Given the description of an element on the screen output the (x, y) to click on. 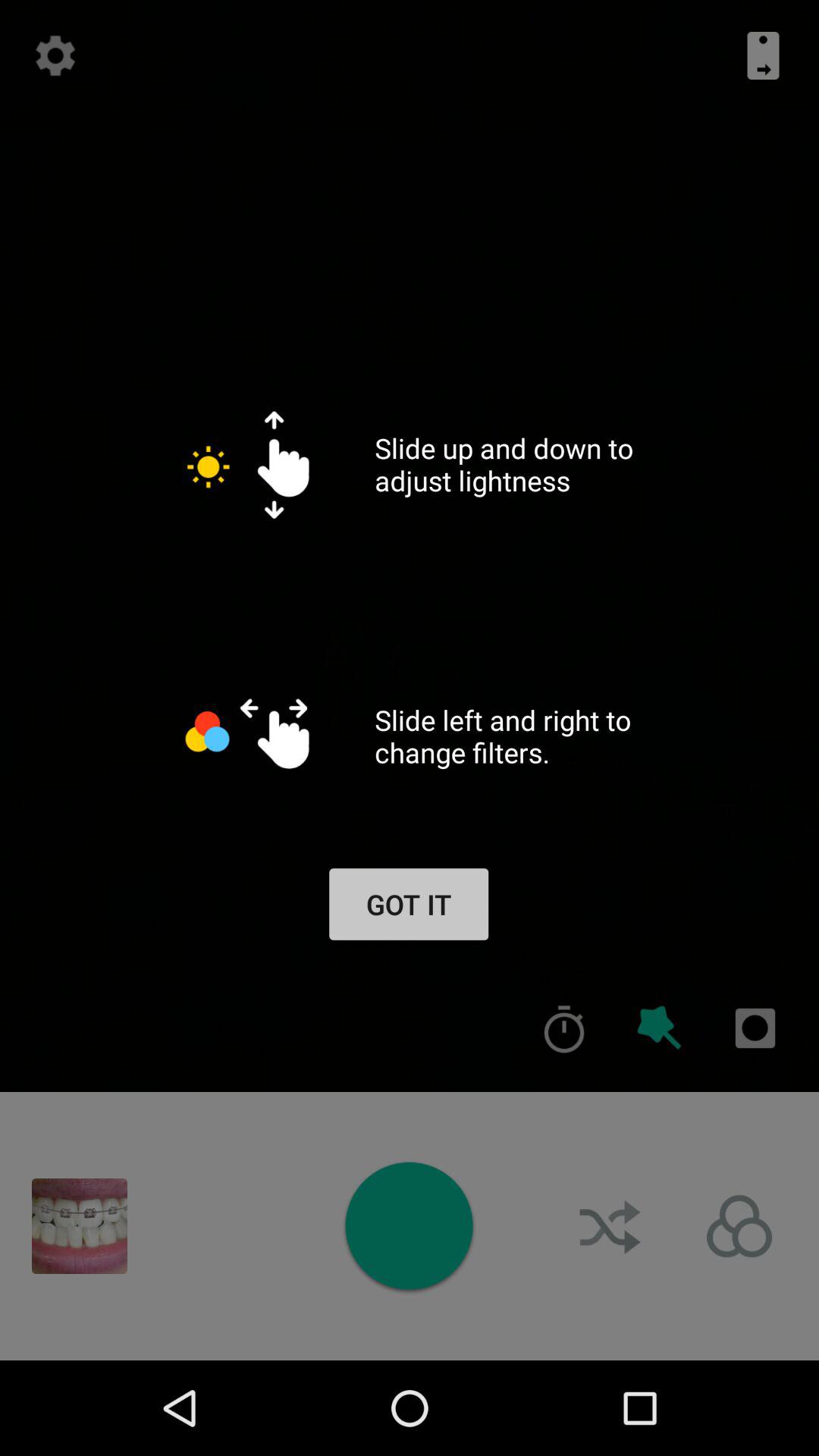
select the icon at the top right corner (763, 55)
